Given the description of an element on the screen output the (x, y) to click on. 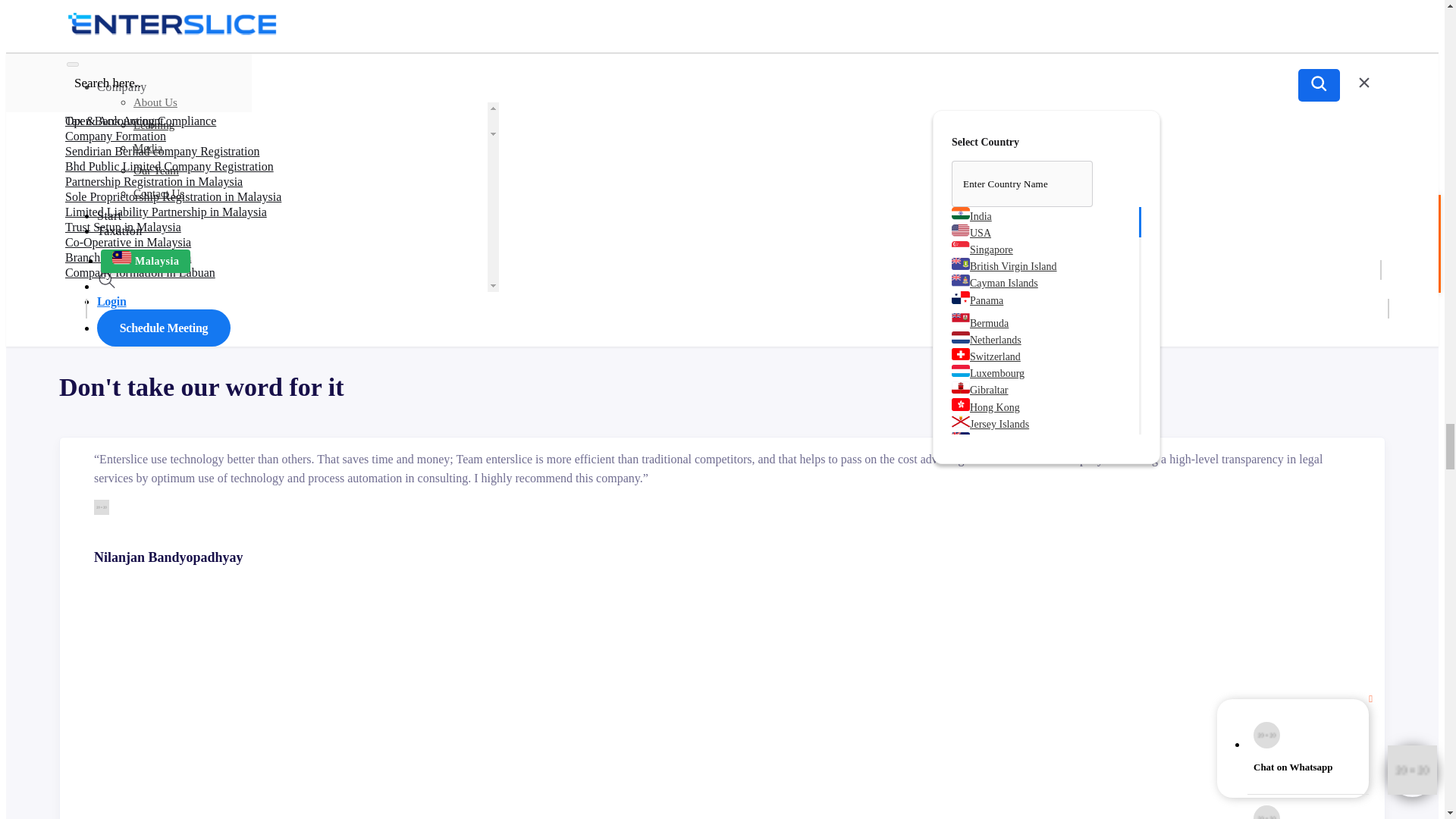
Acme Solar (73, 236)
justdial (73, 109)
Herbal Life Nutrition (73, 181)
First Cry (73, 254)
milton (73, 163)
Taj Hotels (73, 200)
marg (73, 90)
davinta (73, 145)
spiinny (73, 72)
Razorpay (73, 218)
Nilanjan Bandyopadhyay (101, 507)
fia global (73, 127)
